Given the description of an element on the screen output the (x, y) to click on. 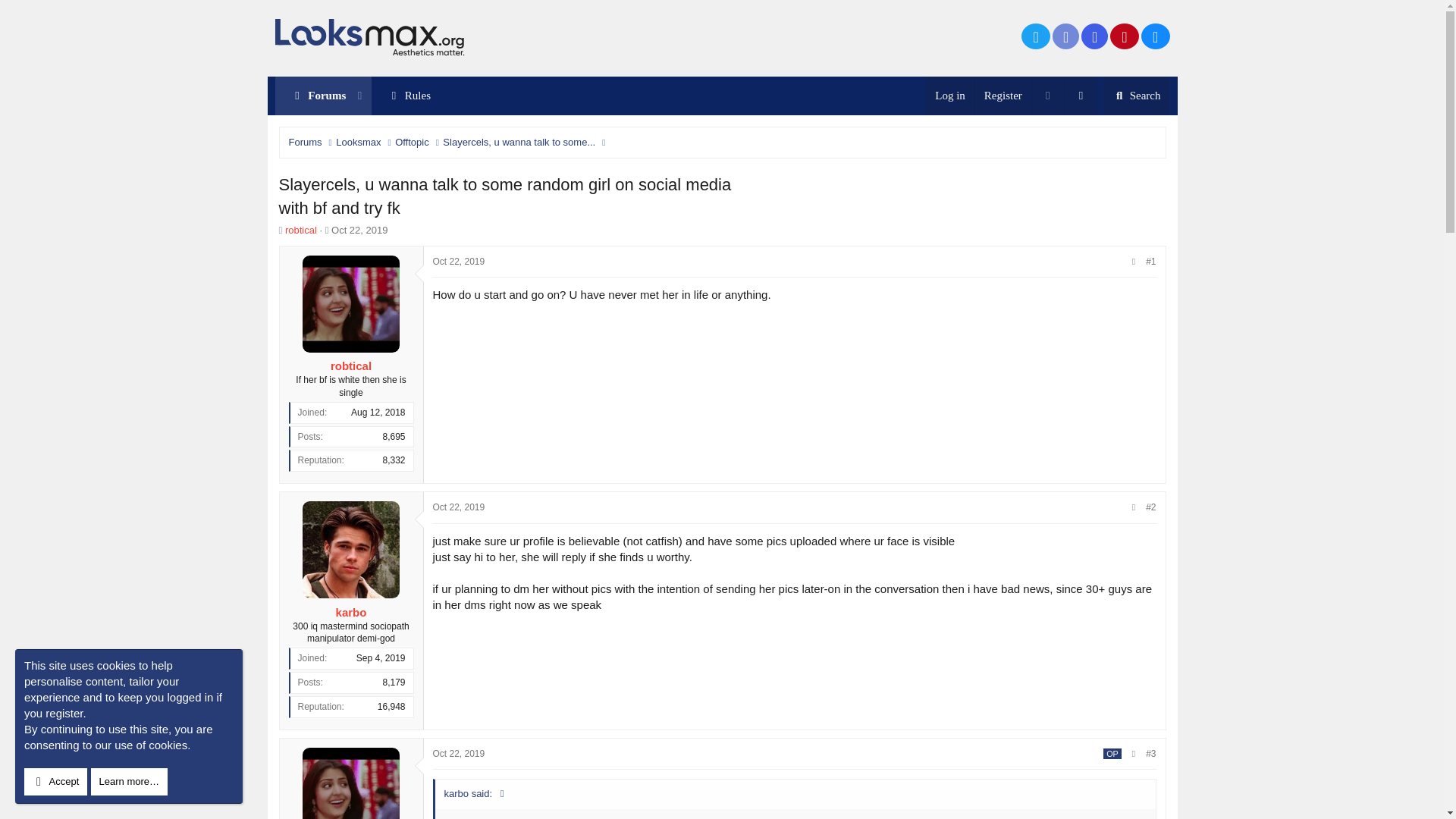
Oct 22, 2019 at 11:23 AM (359, 95)
Twitter (458, 507)
Search (1035, 36)
Oct 22, 2019 at 11:57 AM (1136, 95)
Oct 22, 2019 (458, 753)
Oct 22, 2019 (359, 229)
Register (458, 261)
Forums (1002, 95)
Discord (311, 95)
Looksmax (1065, 36)
OP (358, 142)
Oct 22, 2019 at 11:21 AM (326, 230)
Log in (458, 261)
